Given the description of an element on the screen output the (x, y) to click on. 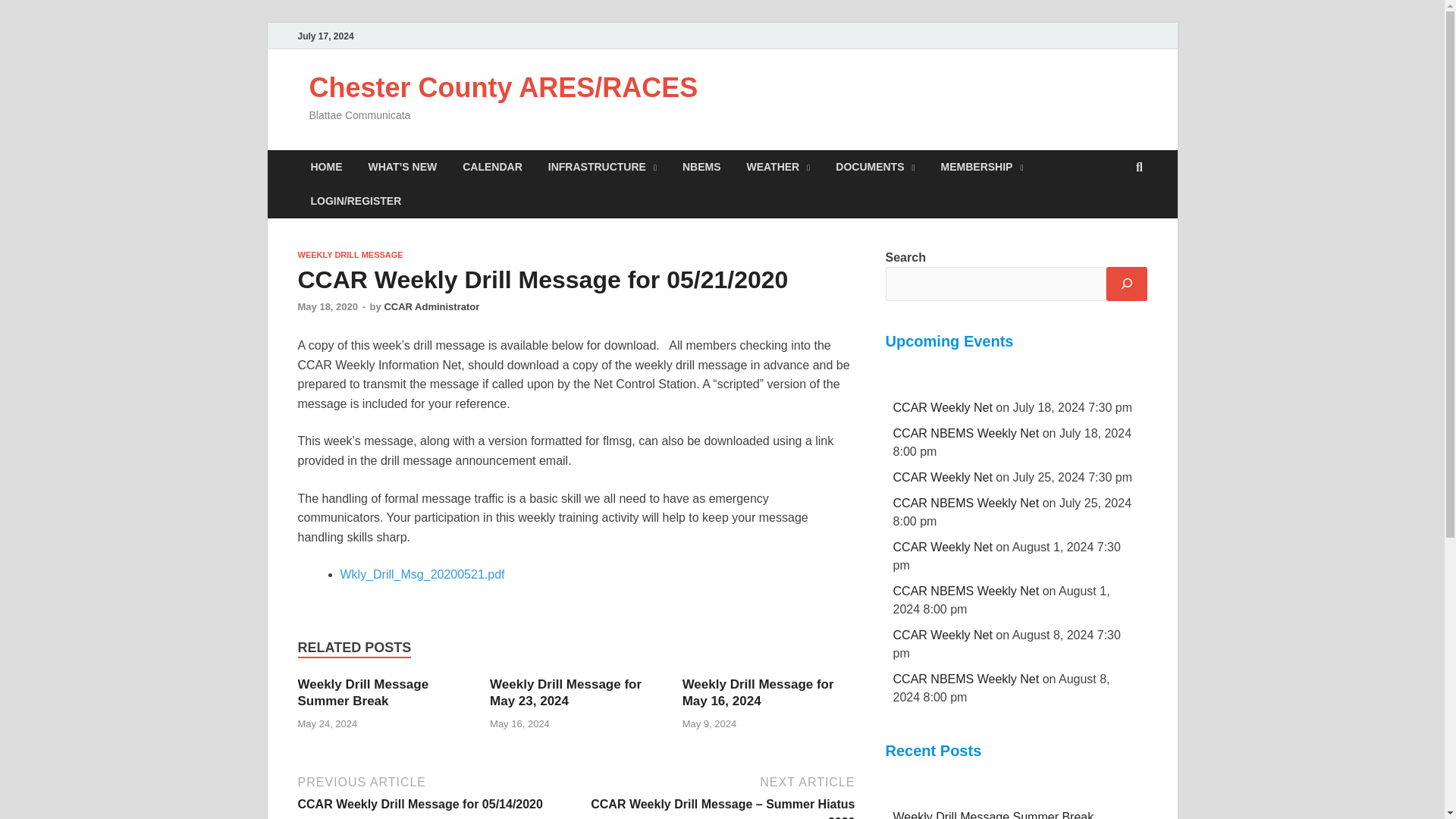
Weekly Drill Message Summer Break (362, 692)
MEMBERSHIP (982, 166)
CALENDAR (492, 166)
DOCUMENTS (874, 166)
Weekly Drill Message for May 16, 2024 (758, 692)
HOME (326, 166)
Weekly Drill Message for May 23, 2024 (565, 692)
WEATHER (778, 166)
INFRASTRUCTURE (602, 166)
NBEMS (701, 166)
